Given the description of an element on the screen output the (x, y) to click on. 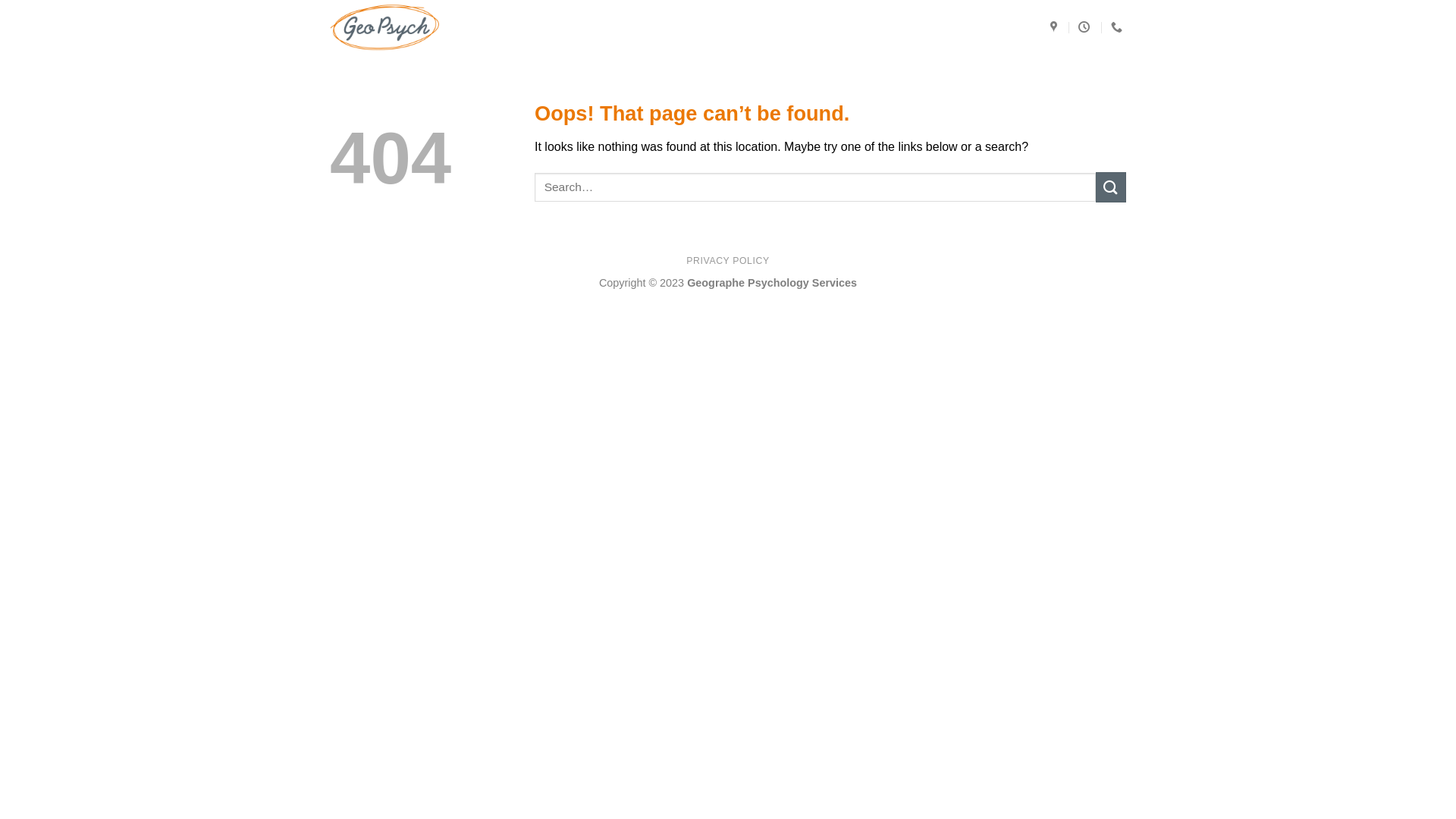
MON-THUR: 8am-5pm  Element type: hover (1085, 26)
PRIVACY POLICY Element type: text (727, 260)
(08) 9751 5899 Element type: hover (1118, 26)
73 Bussell Highway, West Busselton WA 6280 Element type: hover (1055, 26)
